Given the description of an element on the screen output the (x, y) to click on. 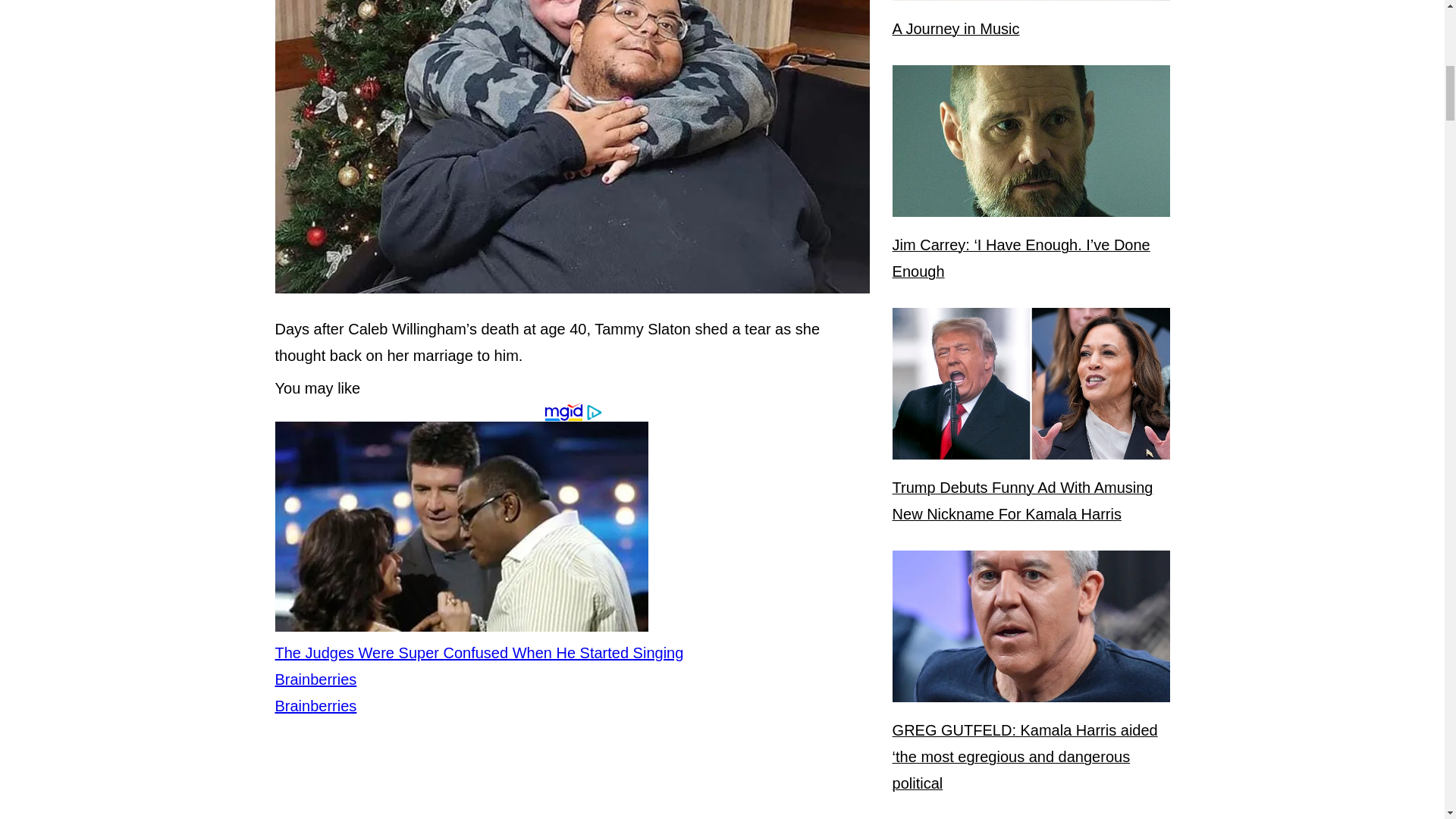
A Journey in Music (956, 28)
